Given the description of an element on the screen output the (x, y) to click on. 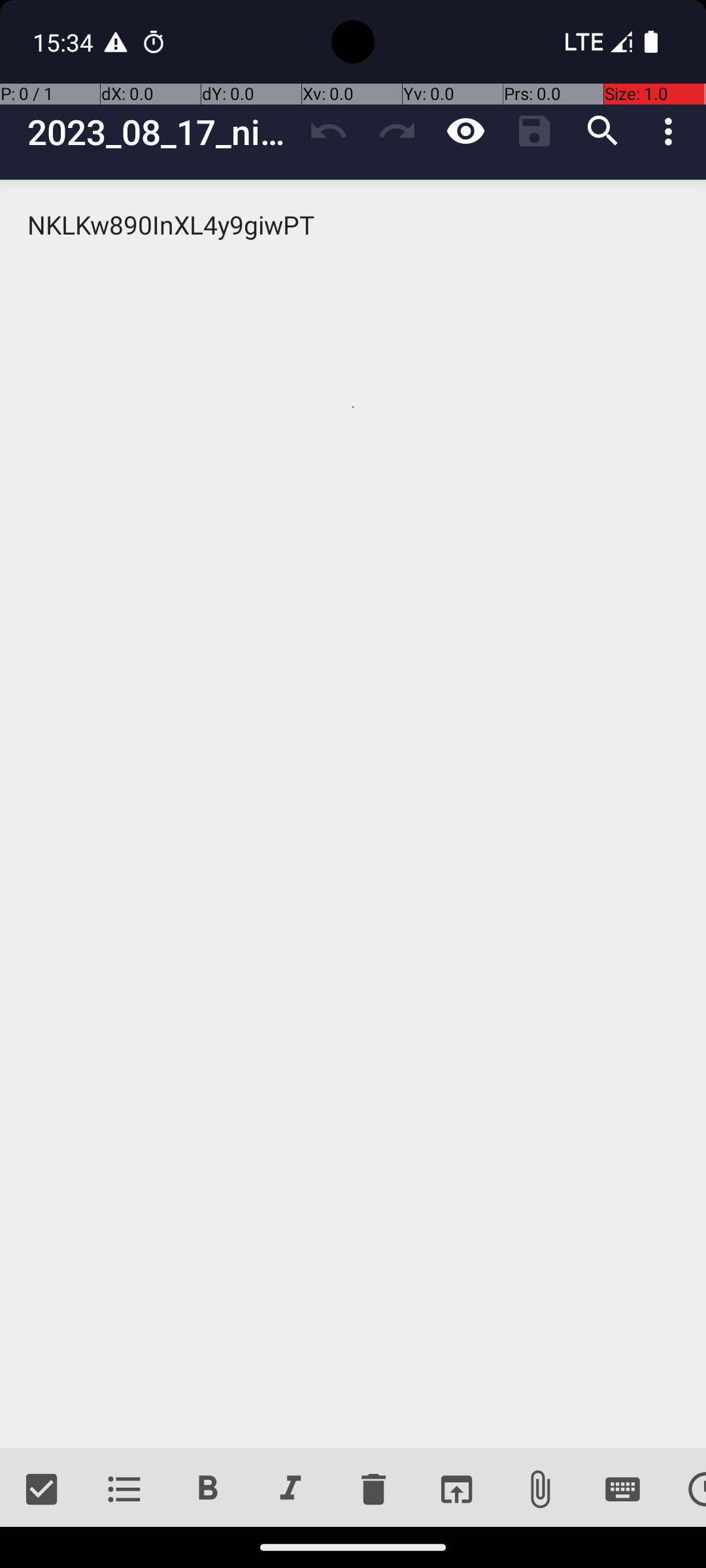
2023_08_17_nice_mouse Element type: android.widget.TextView (160, 131)
NKLKw890InXL4y9giwPT
 Element type: android.widget.EditText (353, 813)
